Given the description of an element on the screen output the (x, y) to click on. 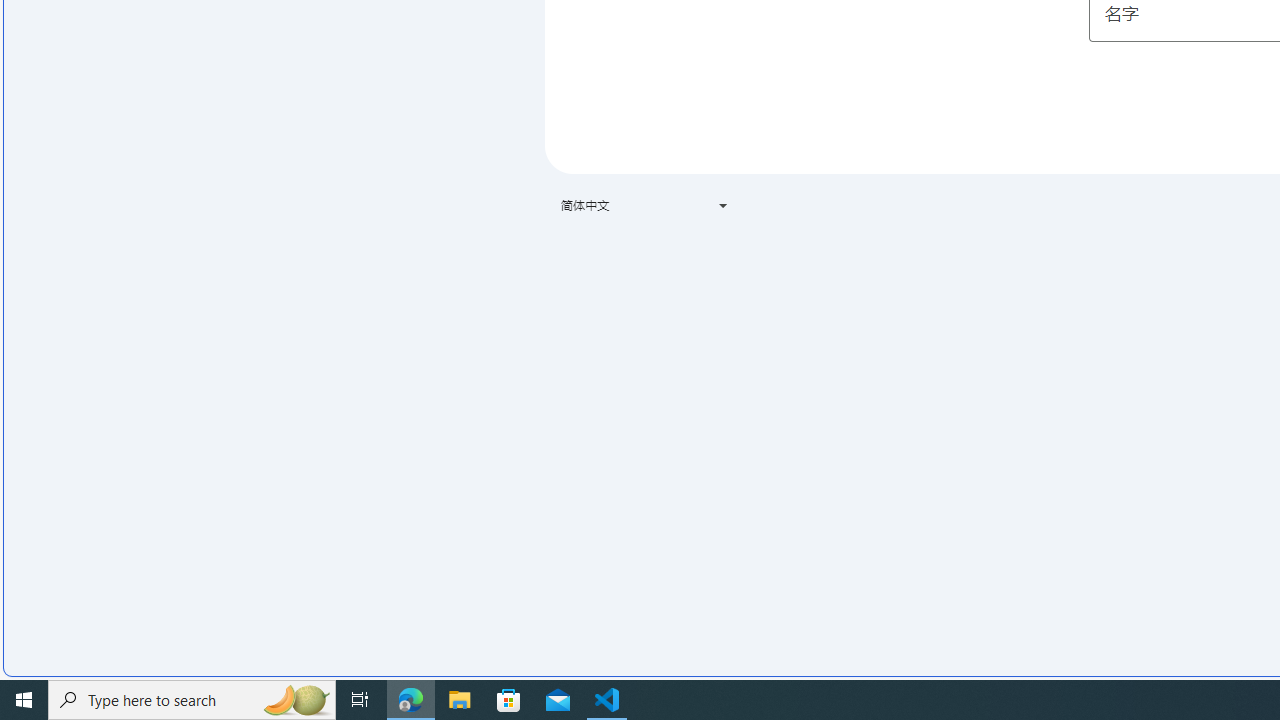
Class: VfPpkd-t08AT-Bz112c-Bd00G (723, 205)
